Given the description of an element on the screen output the (x, y) to click on. 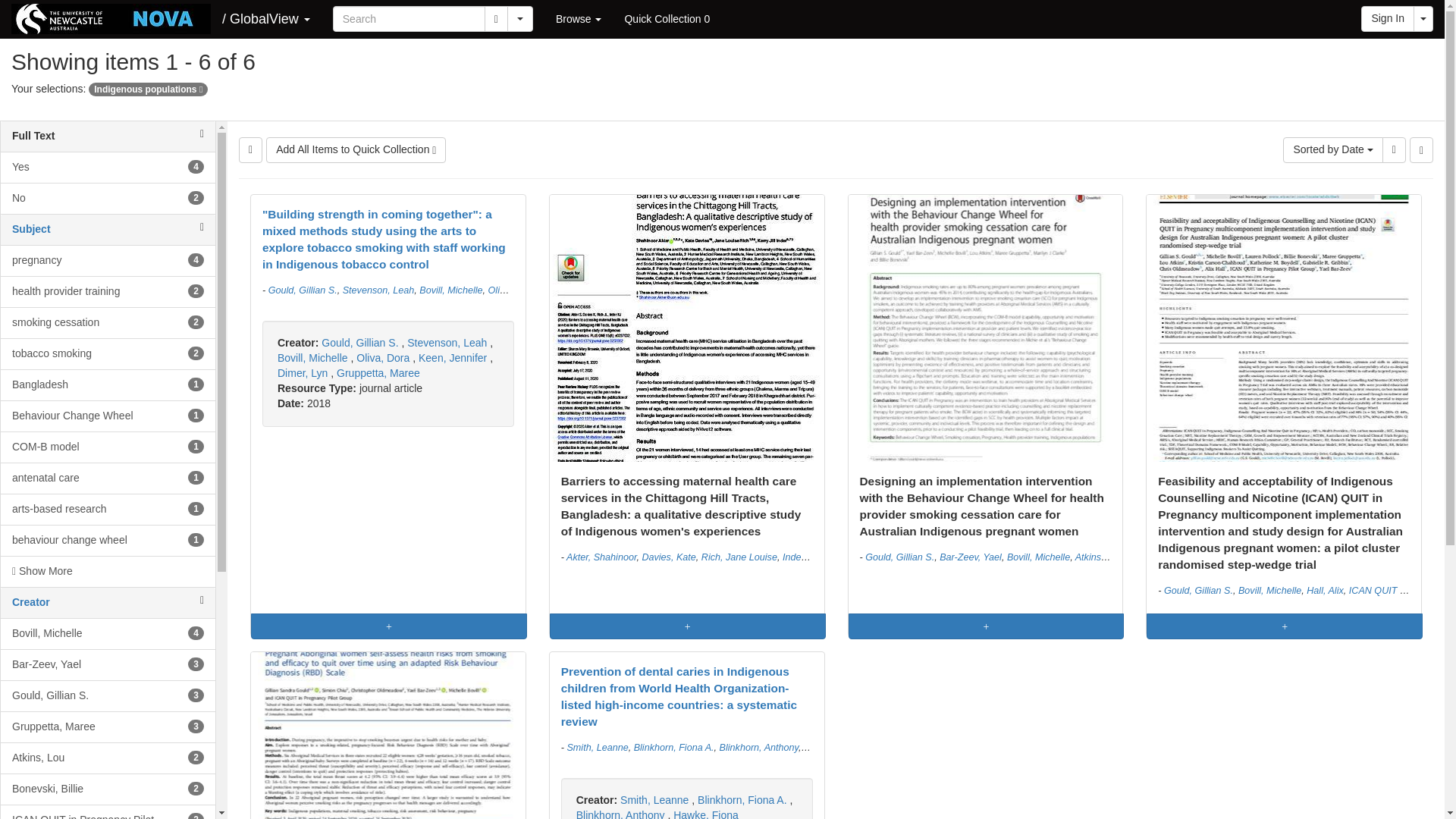
Browse (108, 354)
Indigenous populations (578, 18)
Quick Collection 0 (108, 323)
Subject (148, 89)
Toggle Dropdown (666, 18)
Sign In (30, 228)
GlobalView (108, 291)
Search (519, 18)
